Given the description of an element on the screen output the (x, y) to click on. 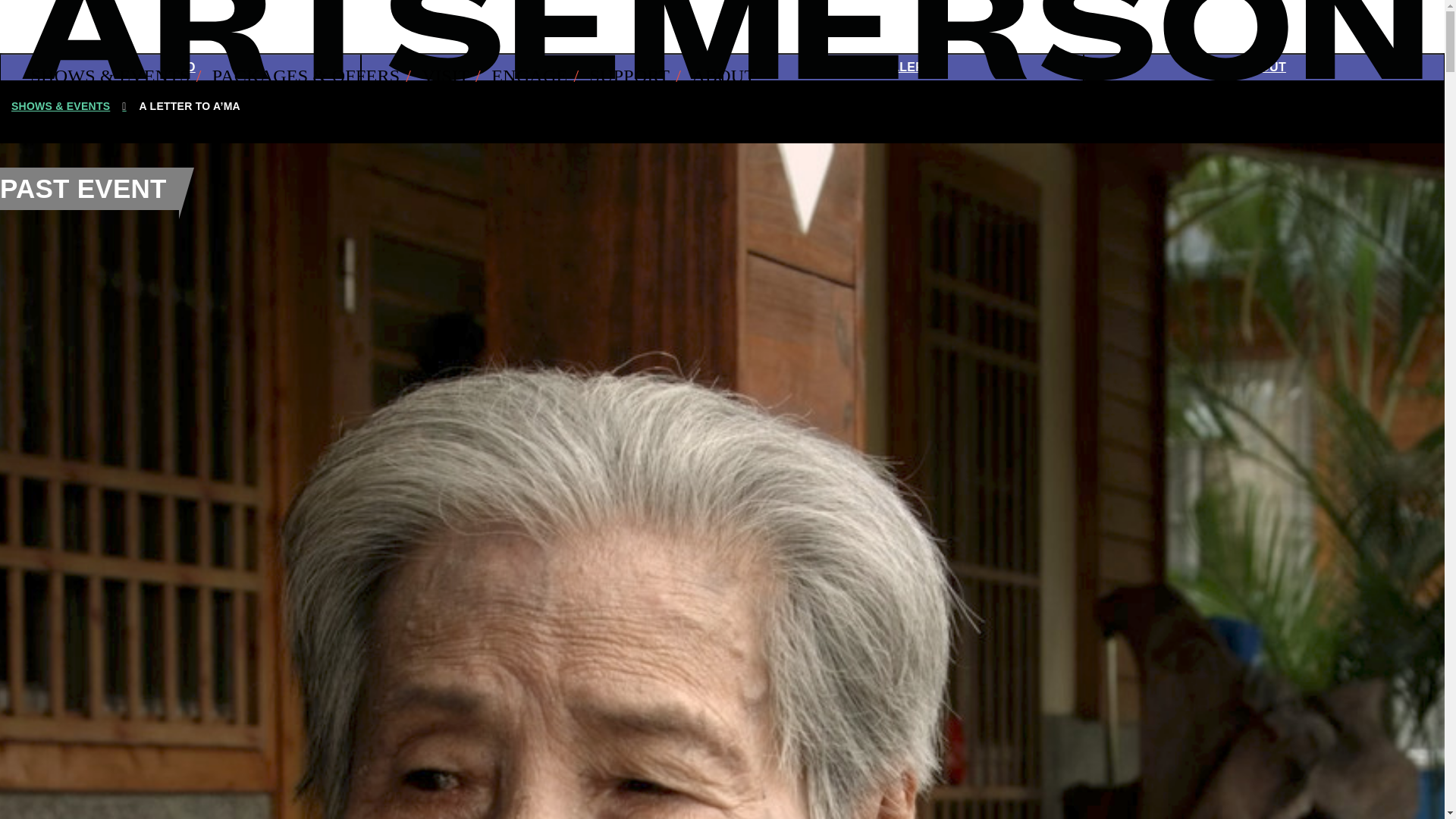
SUPPORT (638, 76)
VISIT (454, 76)
PUBLIC HEALTH (1238, 125)
ENGAGE (538, 76)
ABOUT (723, 76)
